Given the description of an element on the screen output the (x, y) to click on. 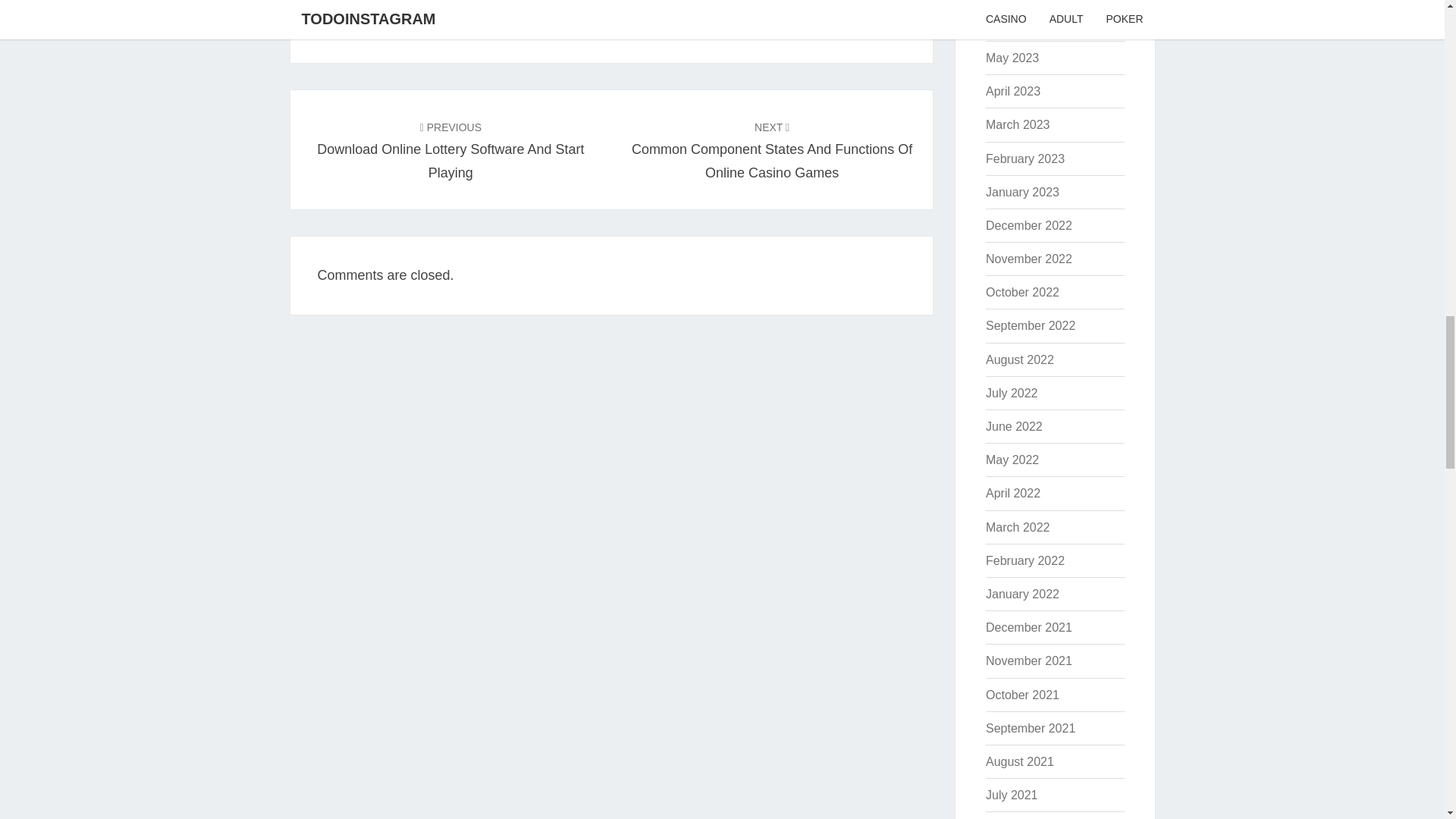
June 2023 (1013, 24)
February 2023 (1024, 158)
January 2023 (1022, 192)
March 2023 (1017, 124)
December 2022 (1028, 225)
November 2022 (1028, 258)
May 2023 (1012, 57)
April 2023 (1013, 91)
Casino (376, 16)
